Given the description of an element on the screen output the (x, y) to click on. 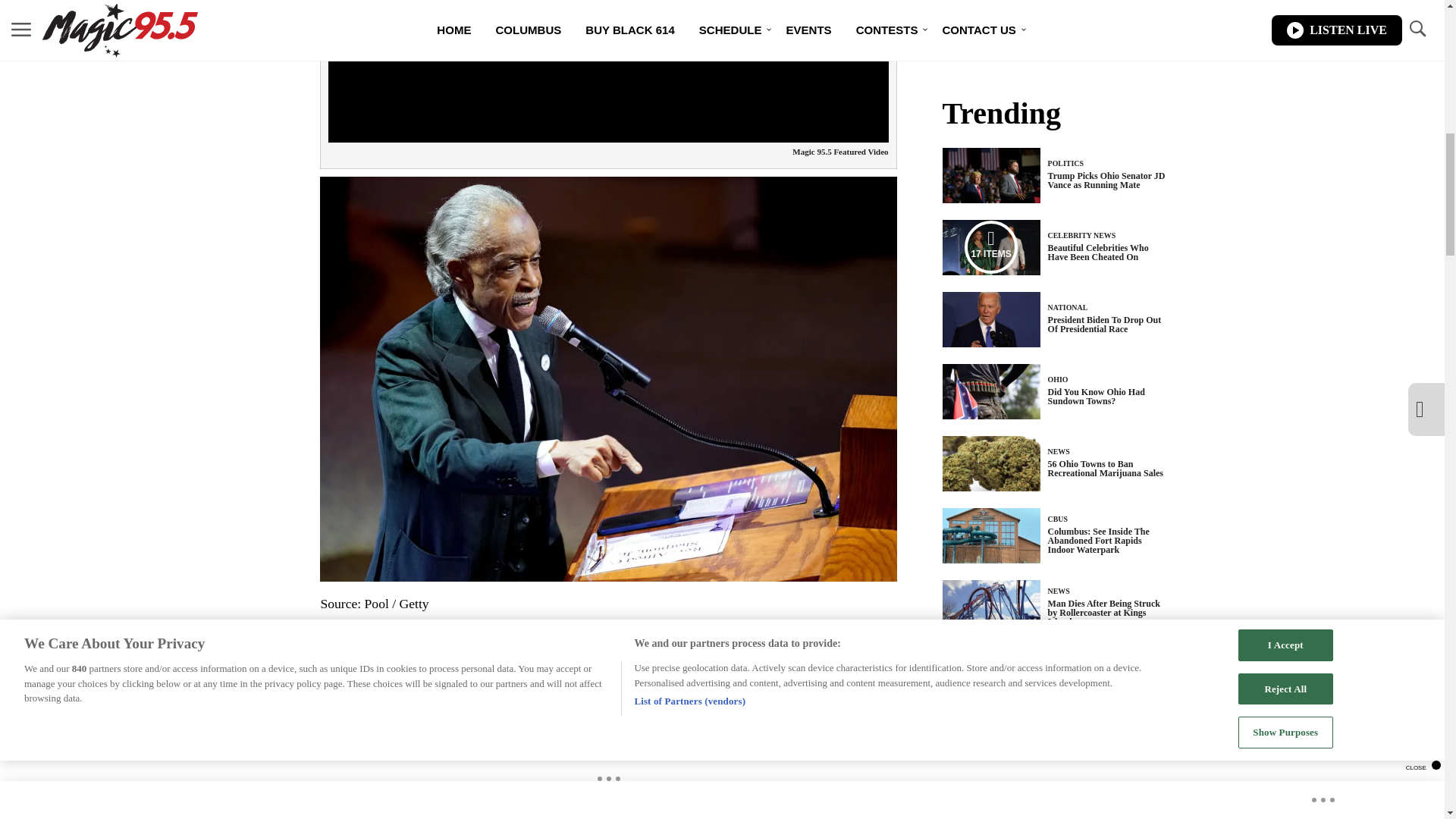
Tyre Nichols (852, 645)
Media Playlist (990, 246)
Rev. Al Sharpton (591, 645)
